Given the description of an element on the screen output the (x, y) to click on. 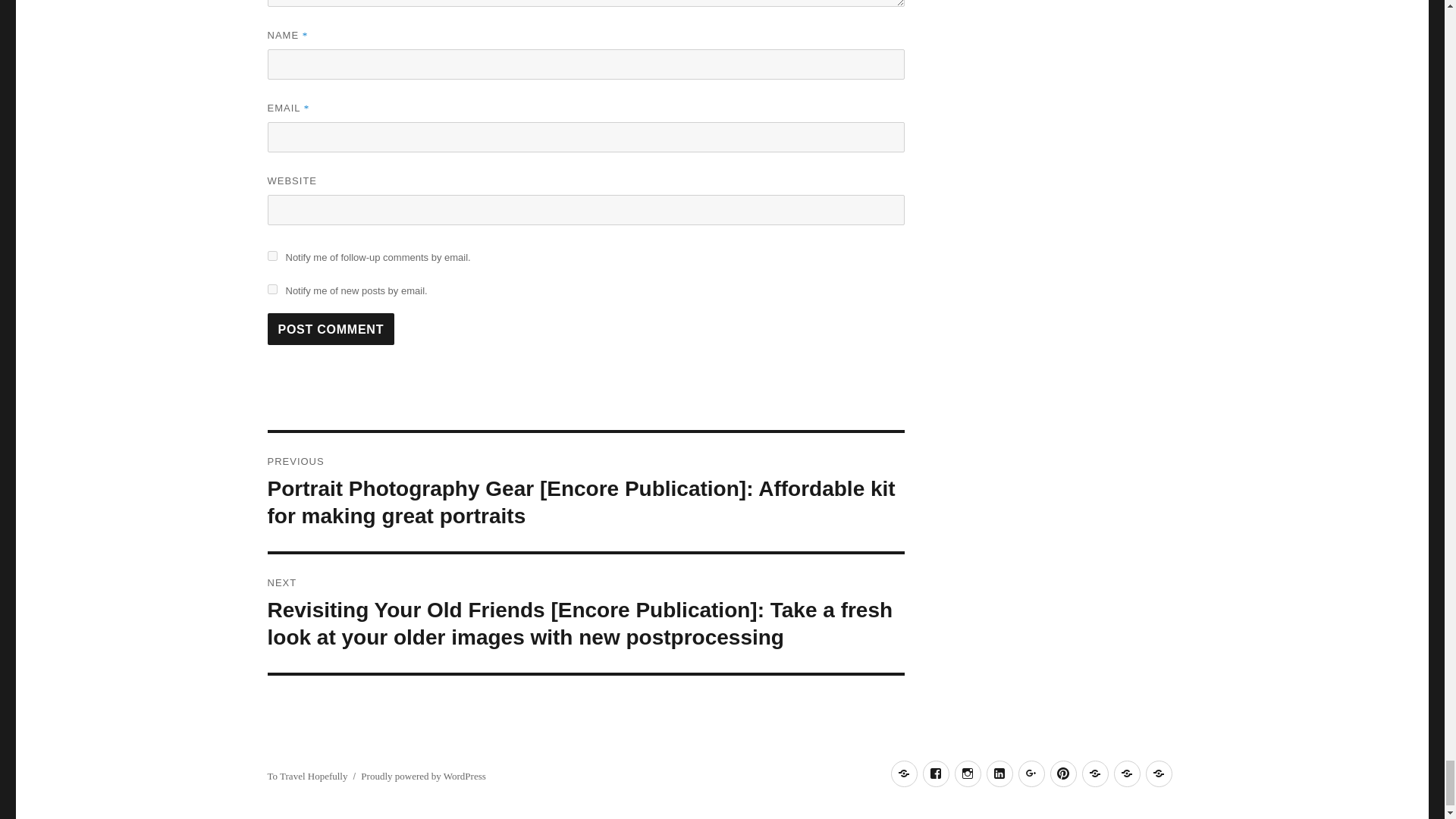
subscribe (271, 289)
subscribe (271, 255)
Post Comment (330, 328)
